Given the description of an element on the screen output the (x, y) to click on. 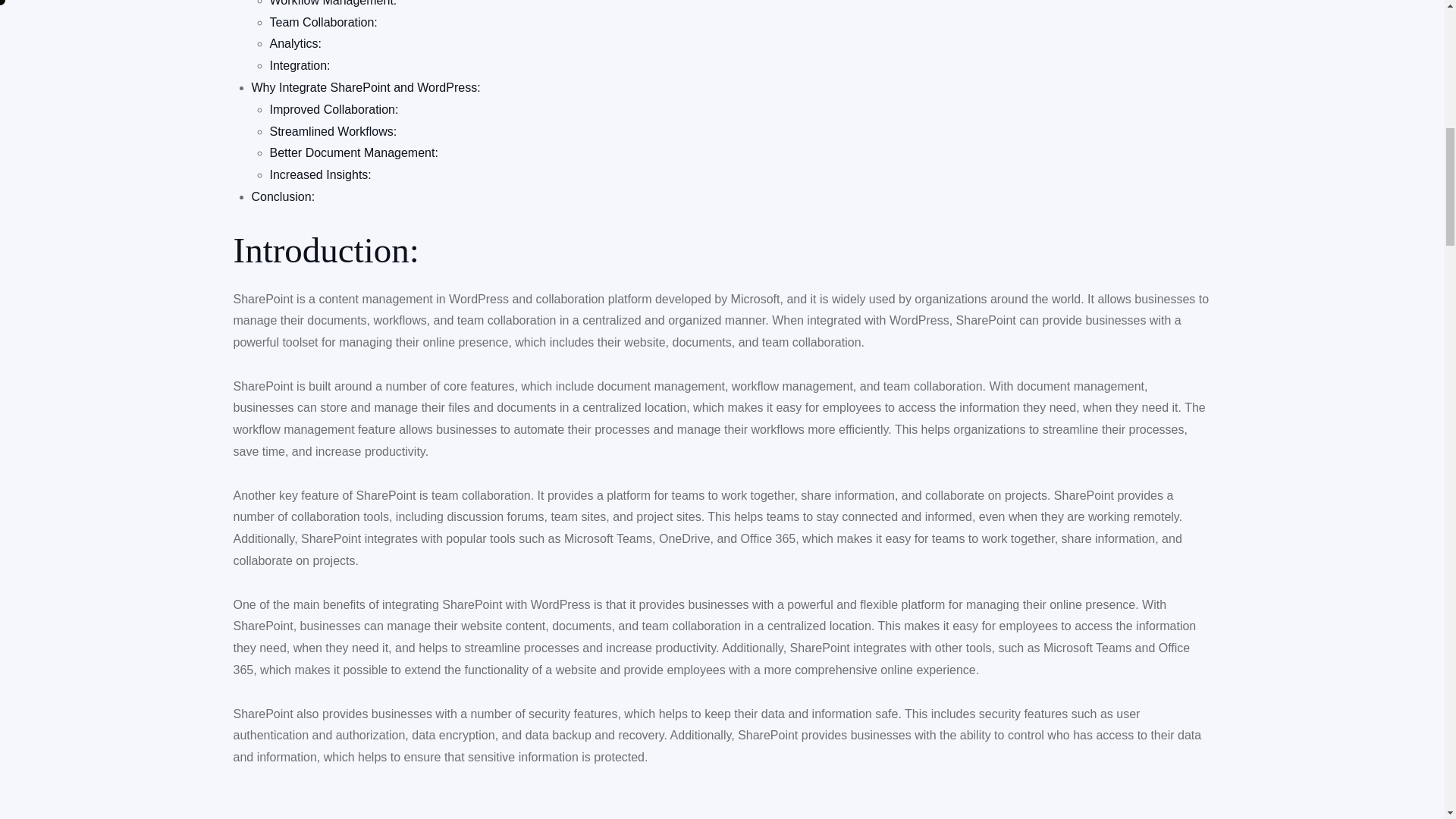
Integration: (299, 65)
Team Collaboration: (323, 21)
Improved Collaboration: (333, 109)
Workflow Management: (333, 3)
Streamlined Workflows: (333, 131)
Increased Insights: (320, 174)
Better Document Management: (353, 152)
Analytics: (295, 42)
Why Integrate SharePoint and WordPress: (365, 87)
Conclusion: (283, 196)
